Given the description of an element on the screen output the (x, y) to click on. 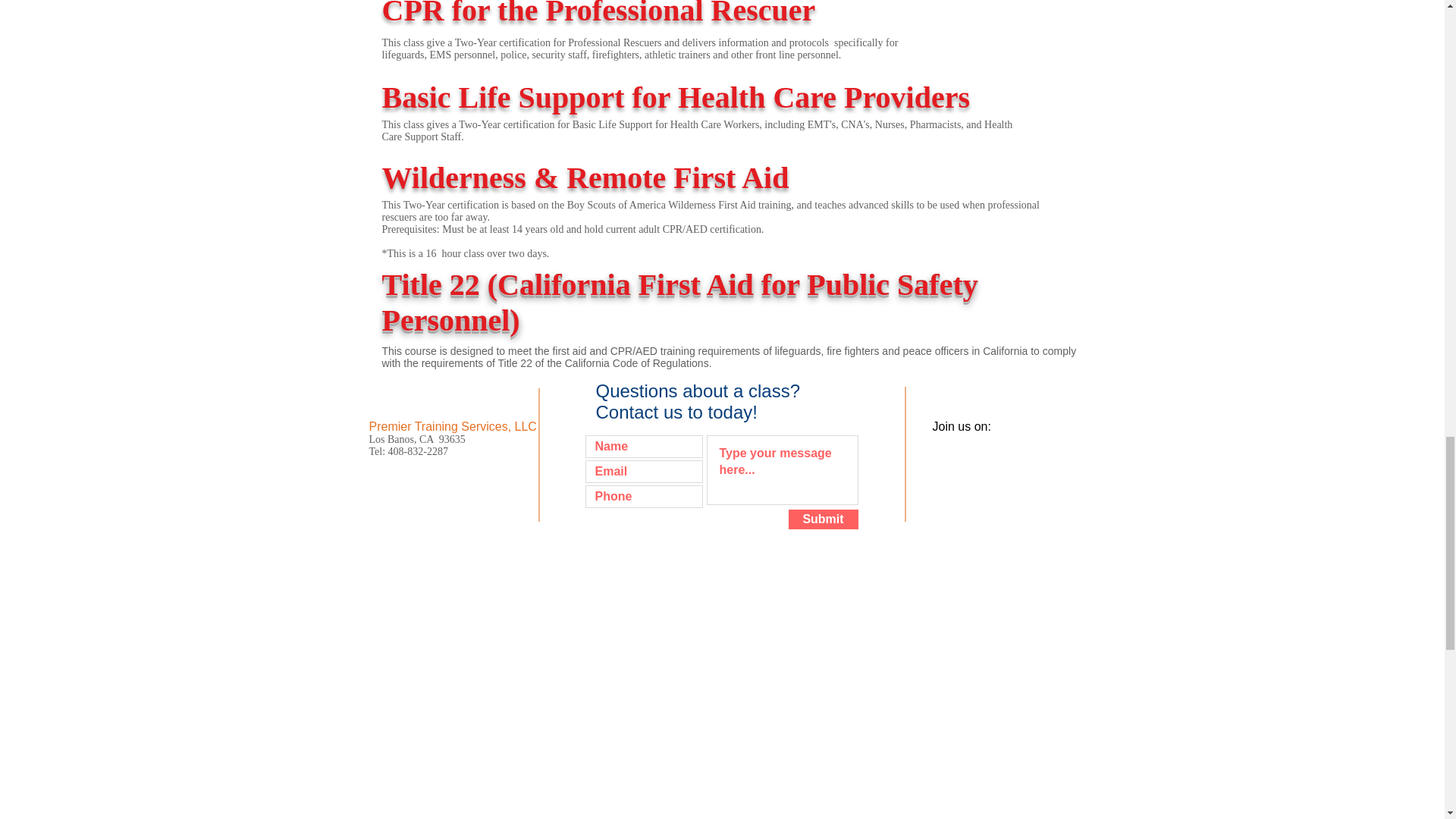
Submit (824, 519)
